Given the description of an element on the screen output the (x, y) to click on. 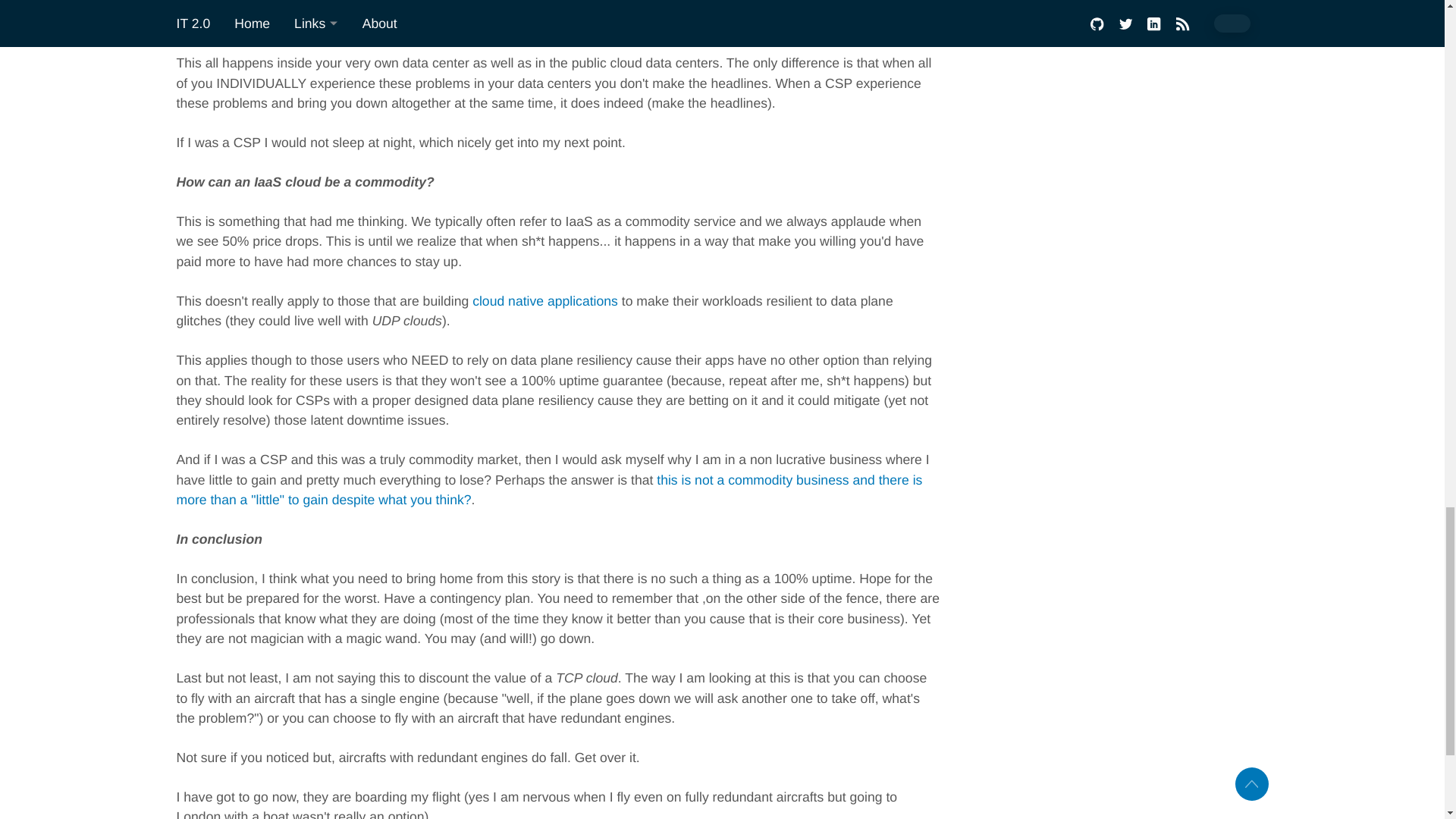
cloud native applications (544, 300)
